Given the description of an element on the screen output the (x, y) to click on. 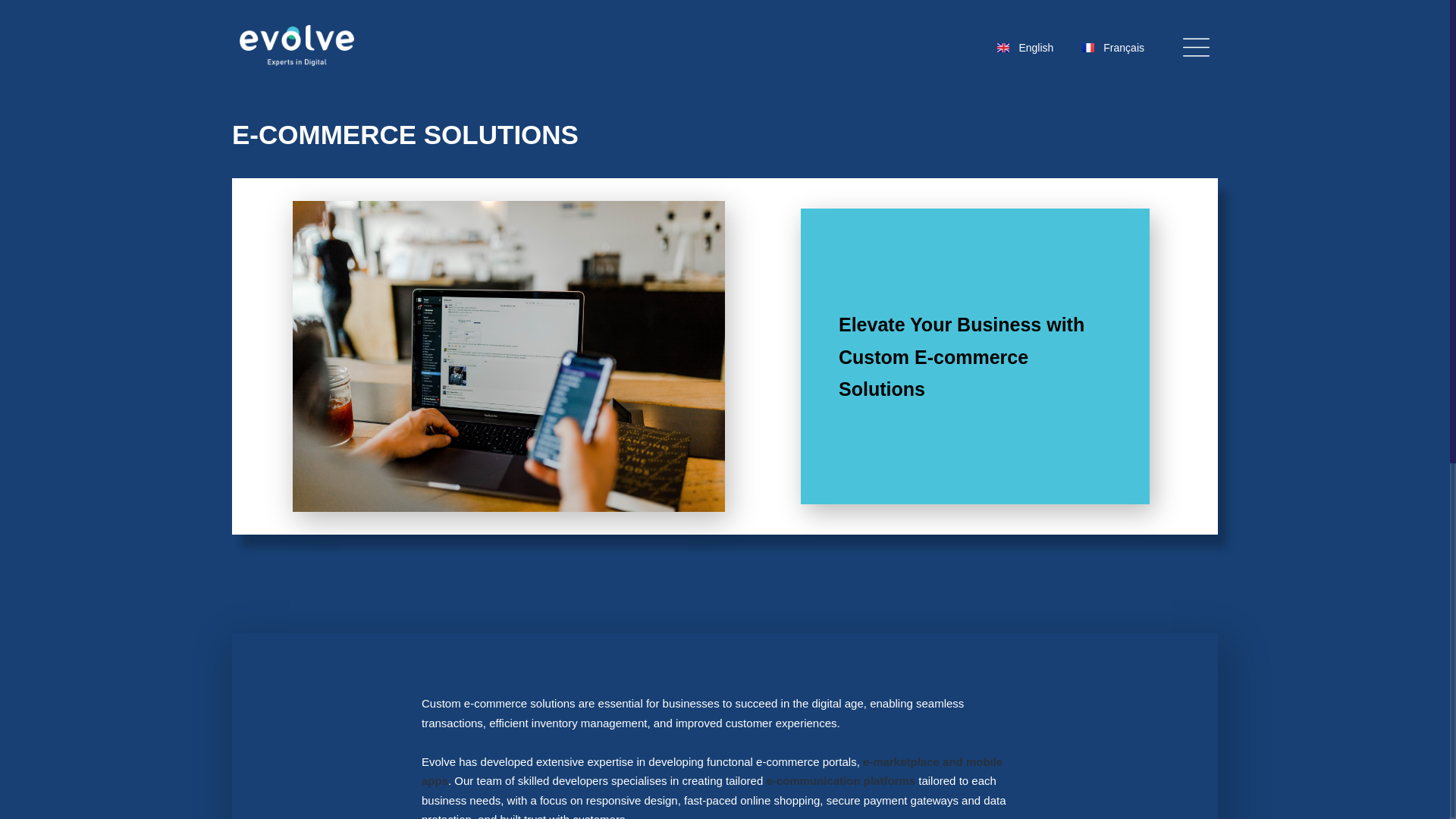
English (1024, 47)
e-communication platforms (840, 780)
e-marketplace and mobile apps (712, 771)
